Given the description of an element on the screen output the (x, y) to click on. 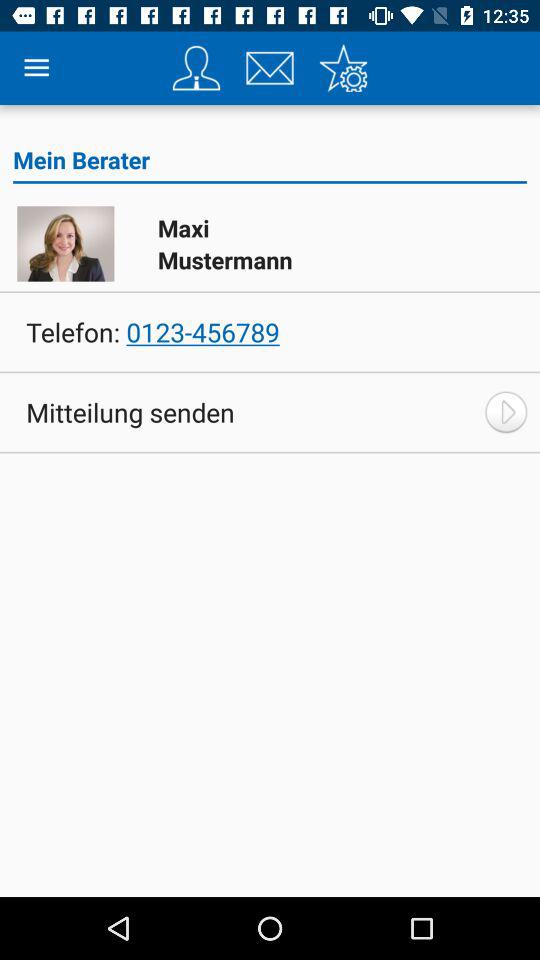
save setting (343, 67)
